Given the description of an element on the screen output the (x, y) to click on. 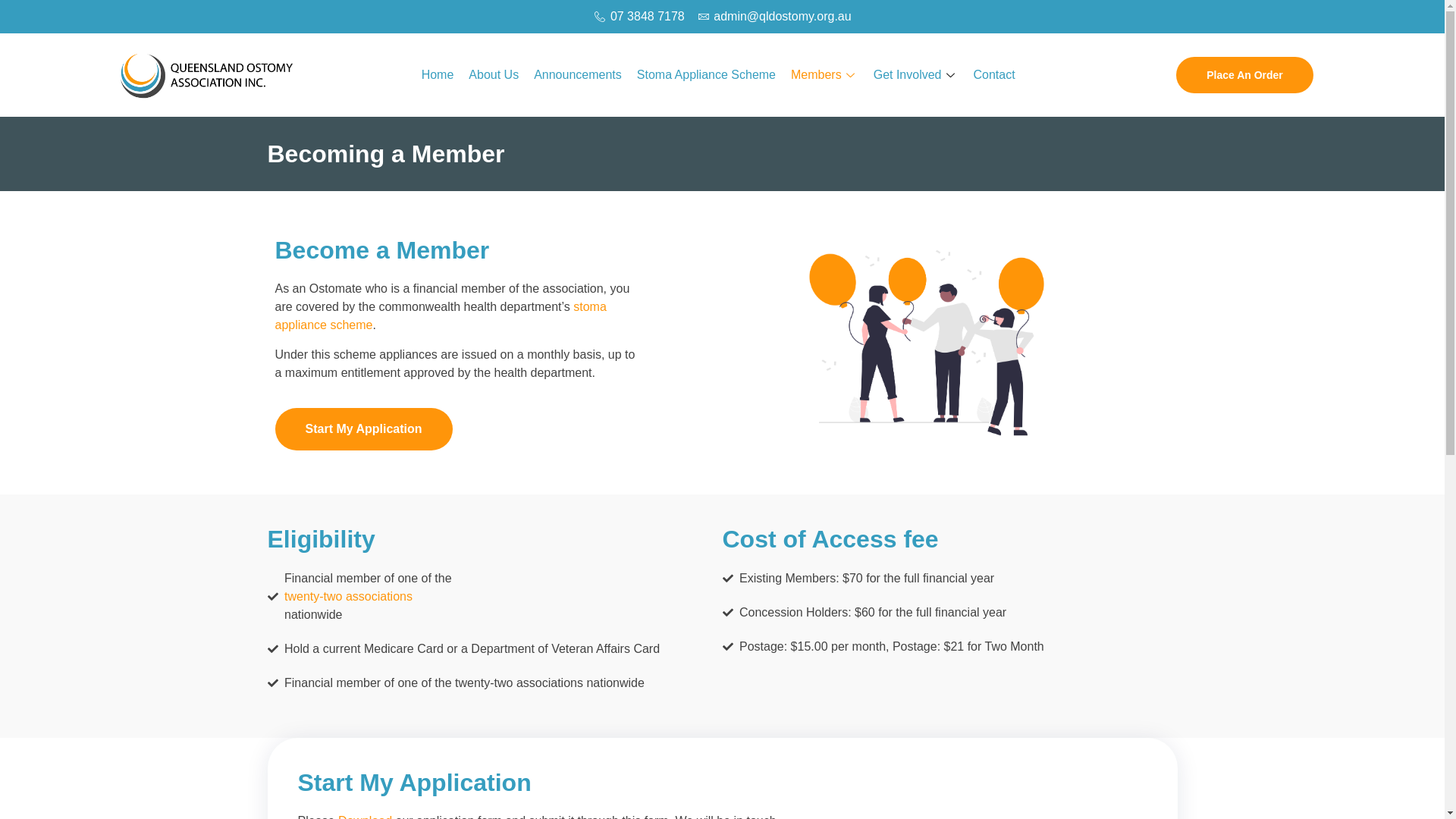
stoma appliance scheme Element type: text (439, 315)
07 3848 7178 Element type: text (638, 16)
Announcements Element type: text (577, 74)
Place An Order Element type: text (1244, 74)
About Us Element type: text (493, 74)
Start My Application Element type: text (362, 428)
twenty-two associations Element type: text (367, 596)
Members Element type: text (824, 74)
admin@qldostomy.org.au Element type: text (773, 16)
Stoma Appliance Scheme Element type: text (706, 74)
Contact Element type: text (994, 74)
Home Element type: text (437, 74)
Get Involved Element type: text (916, 74)
